Given the description of an element on the screen output the (x, y) to click on. 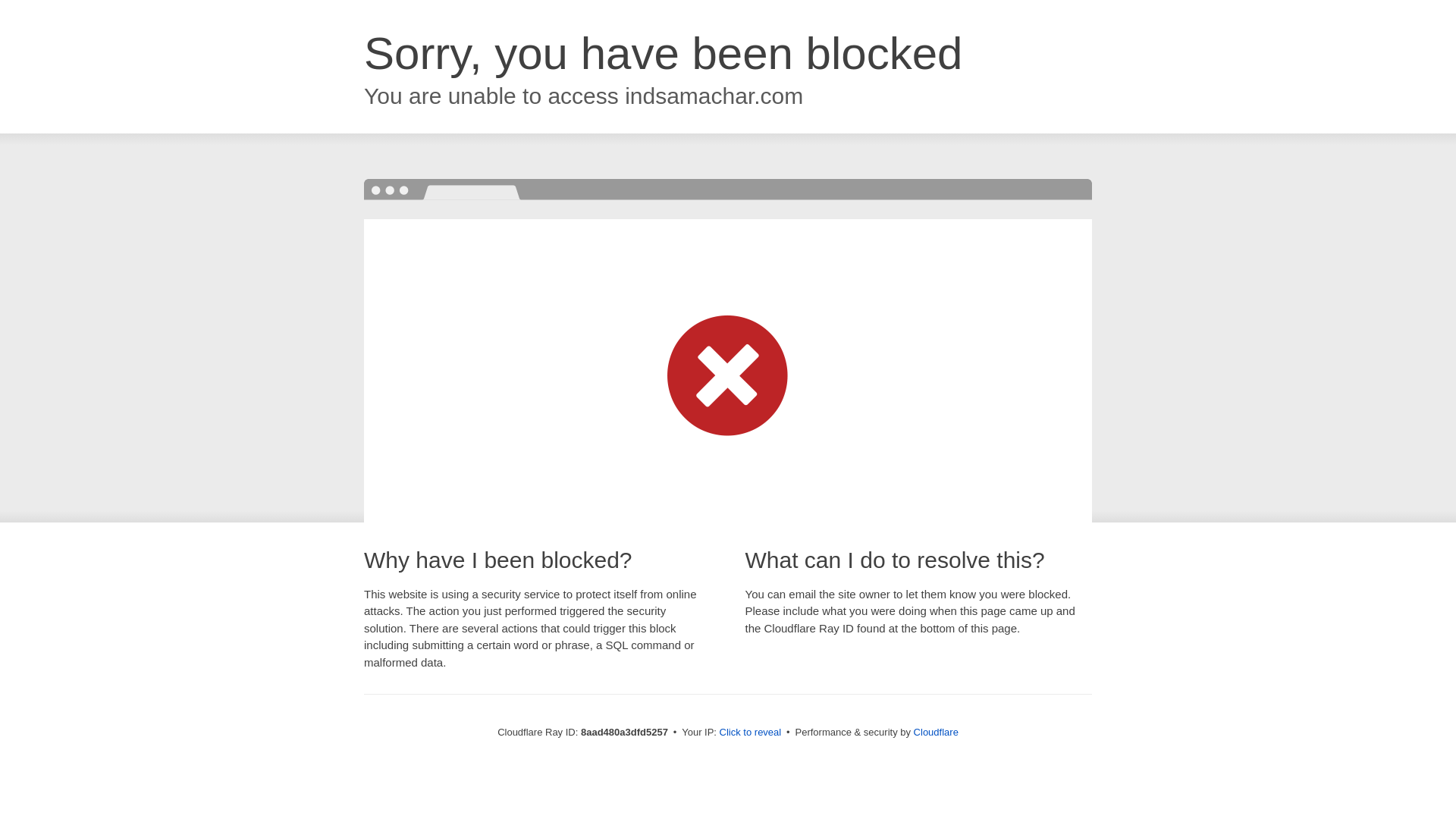
Cloudflare (936, 731)
Click to reveal (750, 732)
